Given the description of an element on the screen output the (x, y) to click on. 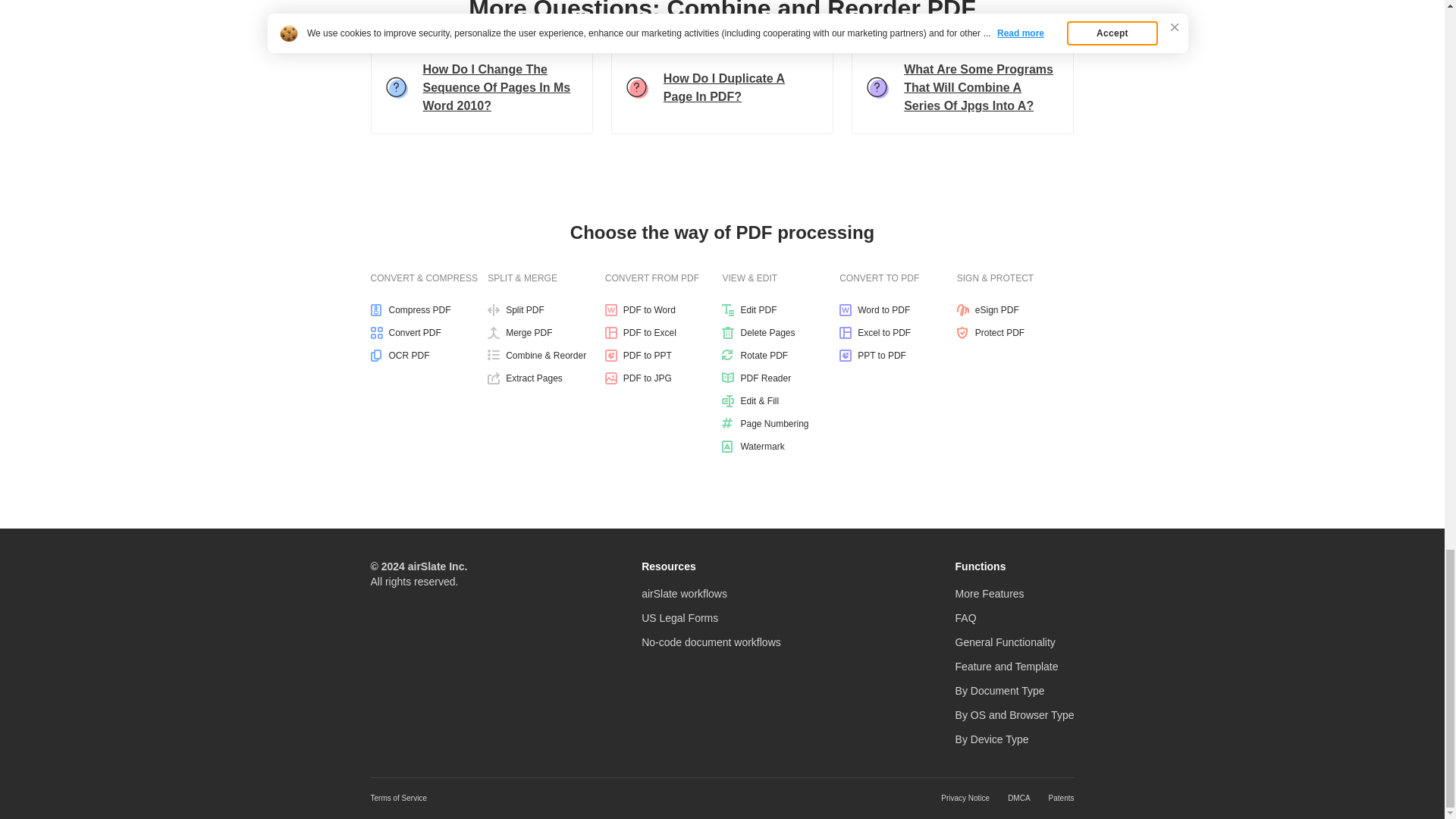
Rotate PDF (781, 355)
How Do I Duplicate A Page In PDF? (721, 89)
Convert PDF (428, 332)
Split PDF (546, 309)
PDF to Excel (663, 332)
Watermark (781, 446)
eSign PDF (1015, 309)
How Do I Change The Sequence Of Pages In Ms Word 2010? (480, 89)
Compress PDF (428, 309)
OCR PDF (428, 355)
Extract Pages (546, 378)
Merge PDF (546, 332)
PPT to PDF (898, 355)
PDF Reader (781, 378)
